Given the description of an element on the screen output the (x, y) to click on. 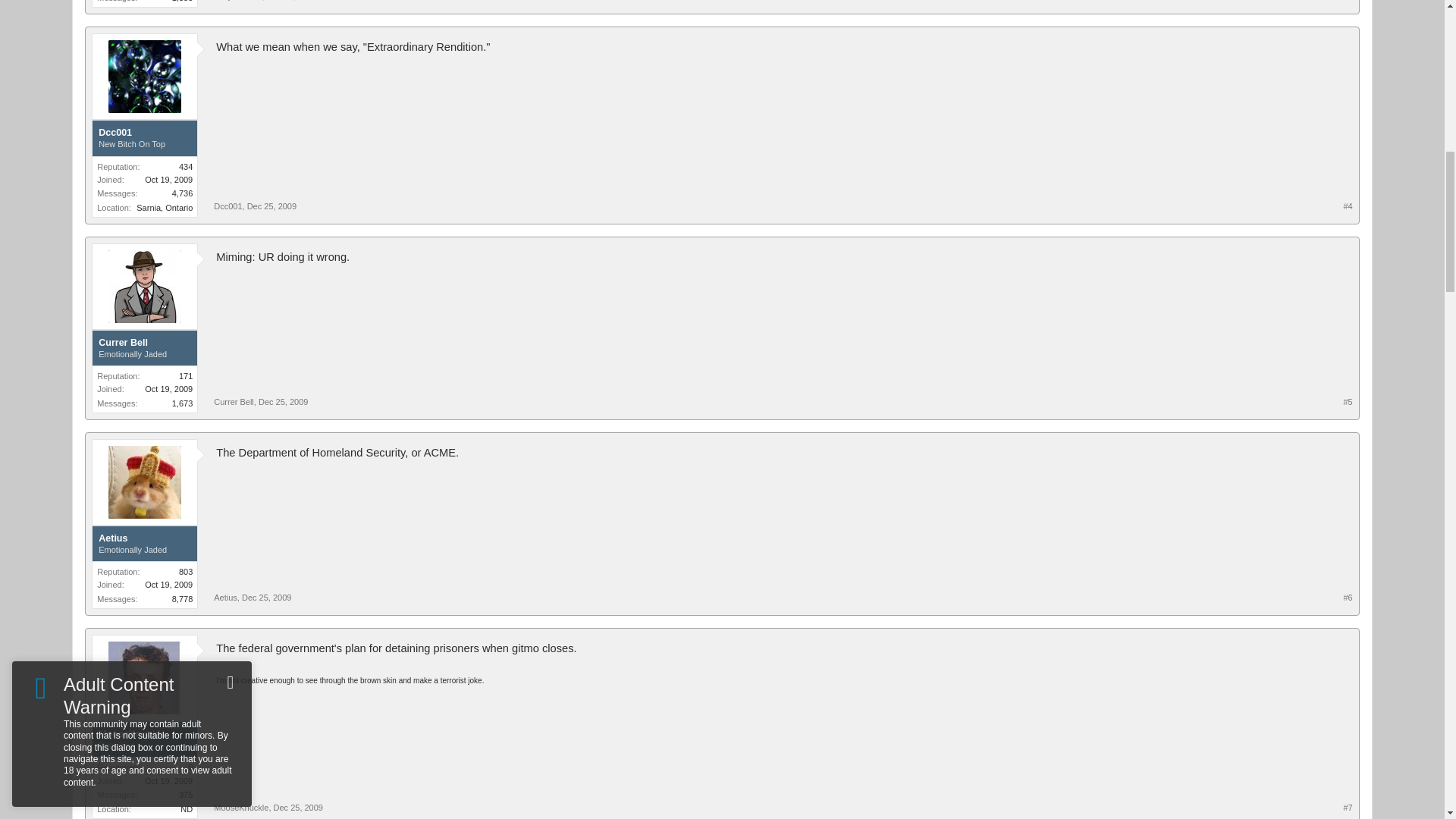
Permalink (272, 205)
Permalink (290, 0)
